Given the description of an element on the screen output the (x, y) to click on. 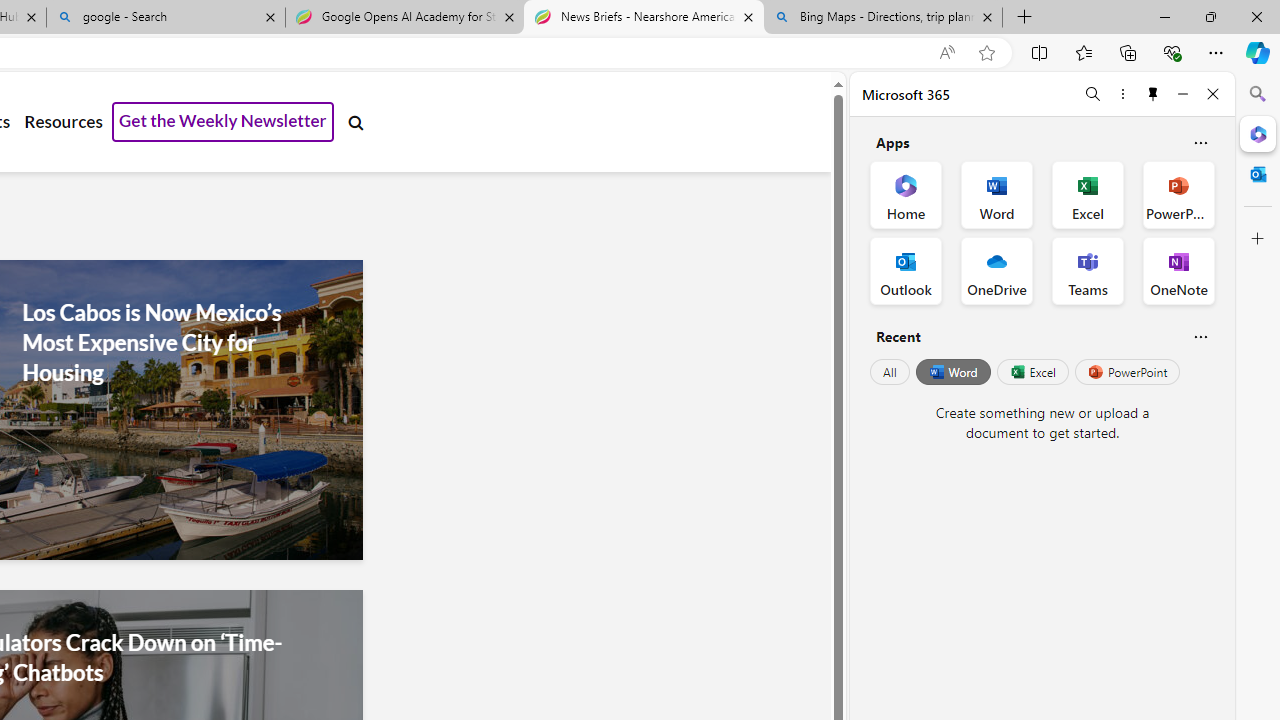
OneDrive Office App (996, 270)
PowerPoint Office App (1178, 194)
Is this helpful? (1200, 336)
Google Opens AI Academy for Startups - Nearshore Americas (404, 17)
